Given the description of an element on the screen output the (x, y) to click on. 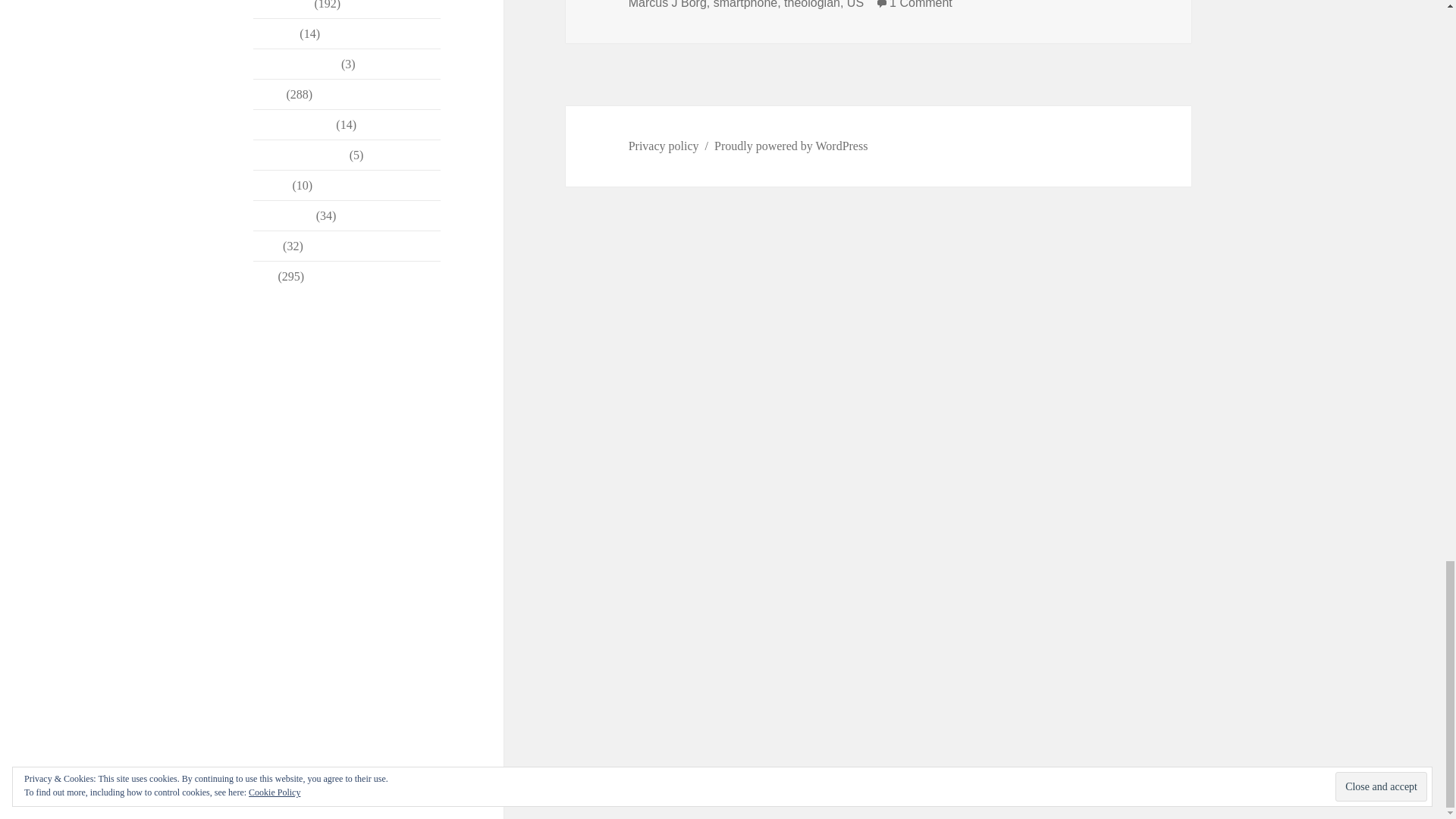
Microsoft Money (295, 63)
Music (268, 93)
Mahjong (275, 33)
Photon Connection (299, 154)
Politics (271, 185)
God Project (282, 4)
